Given the description of an element on the screen output the (x, y) to click on. 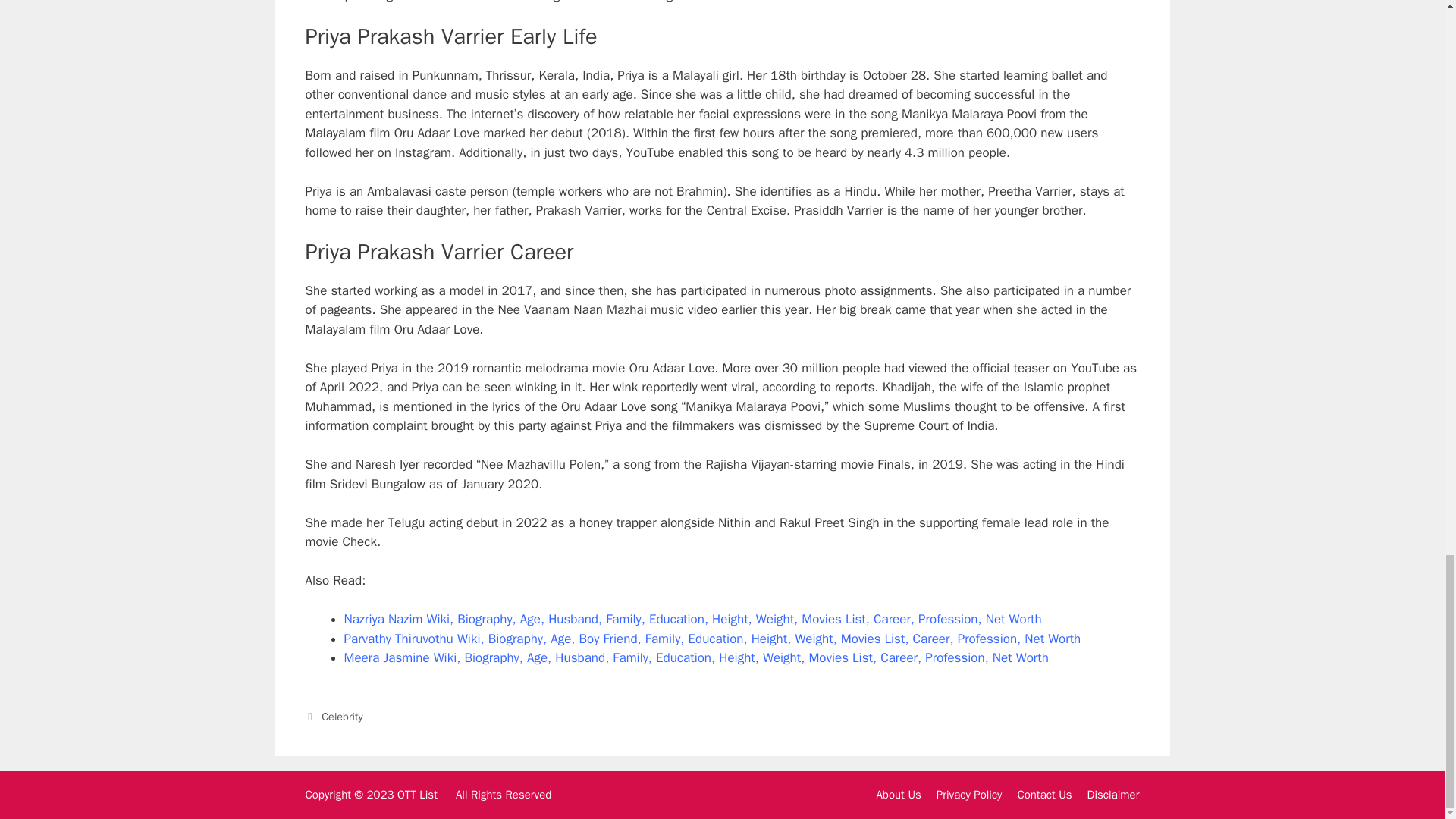
Privacy Policy (969, 794)
OTT List (417, 794)
Disclaimer (1113, 794)
Contact Us (1043, 794)
Celebrity (341, 716)
About Us (898, 794)
